Given the description of an element on the screen output the (x, y) to click on. 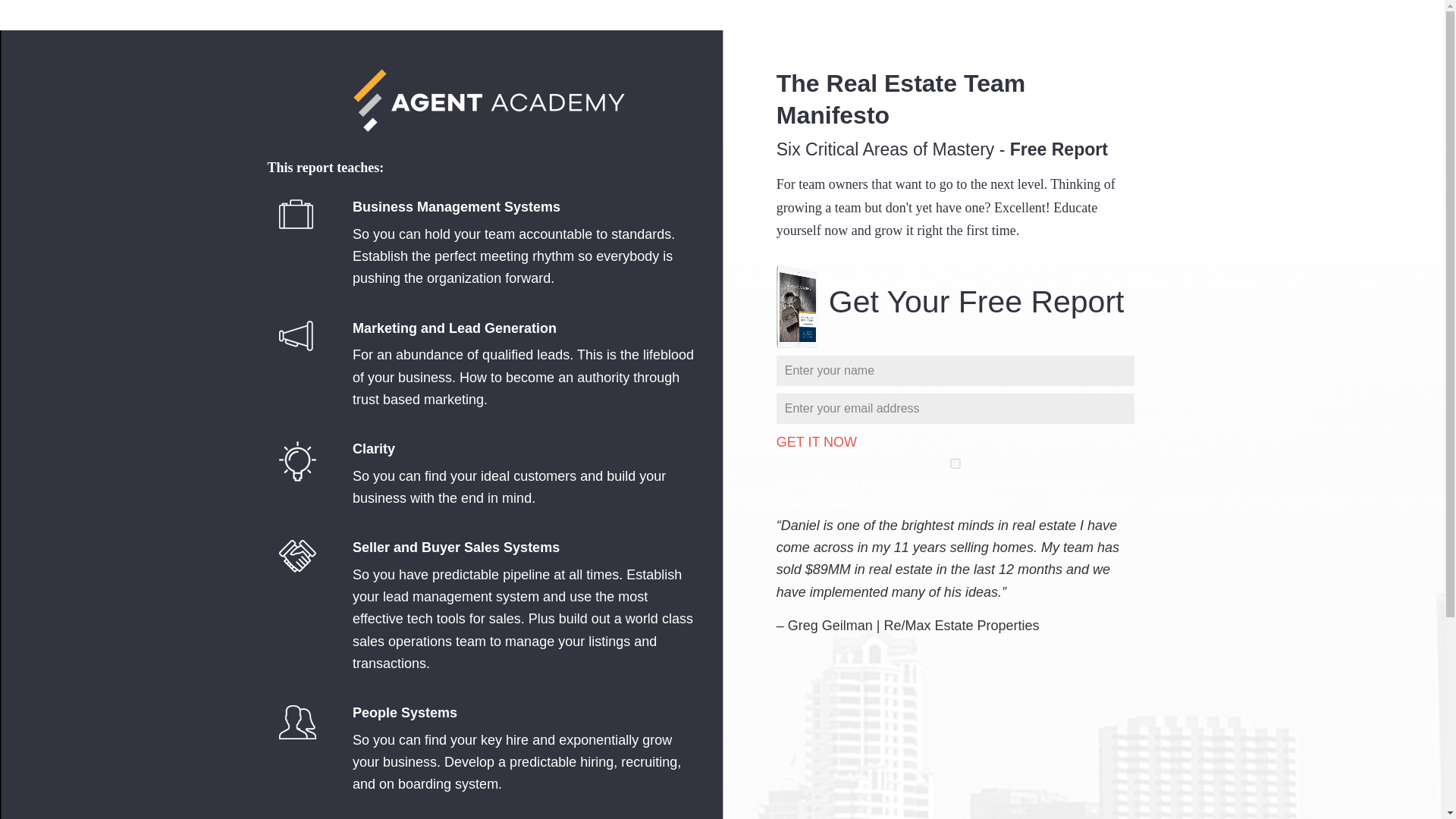
on (955, 463)
GET IT NOW (816, 441)
GET IT NOW (232, 15)
